Given the description of an element on the screen output the (x, y) to click on. 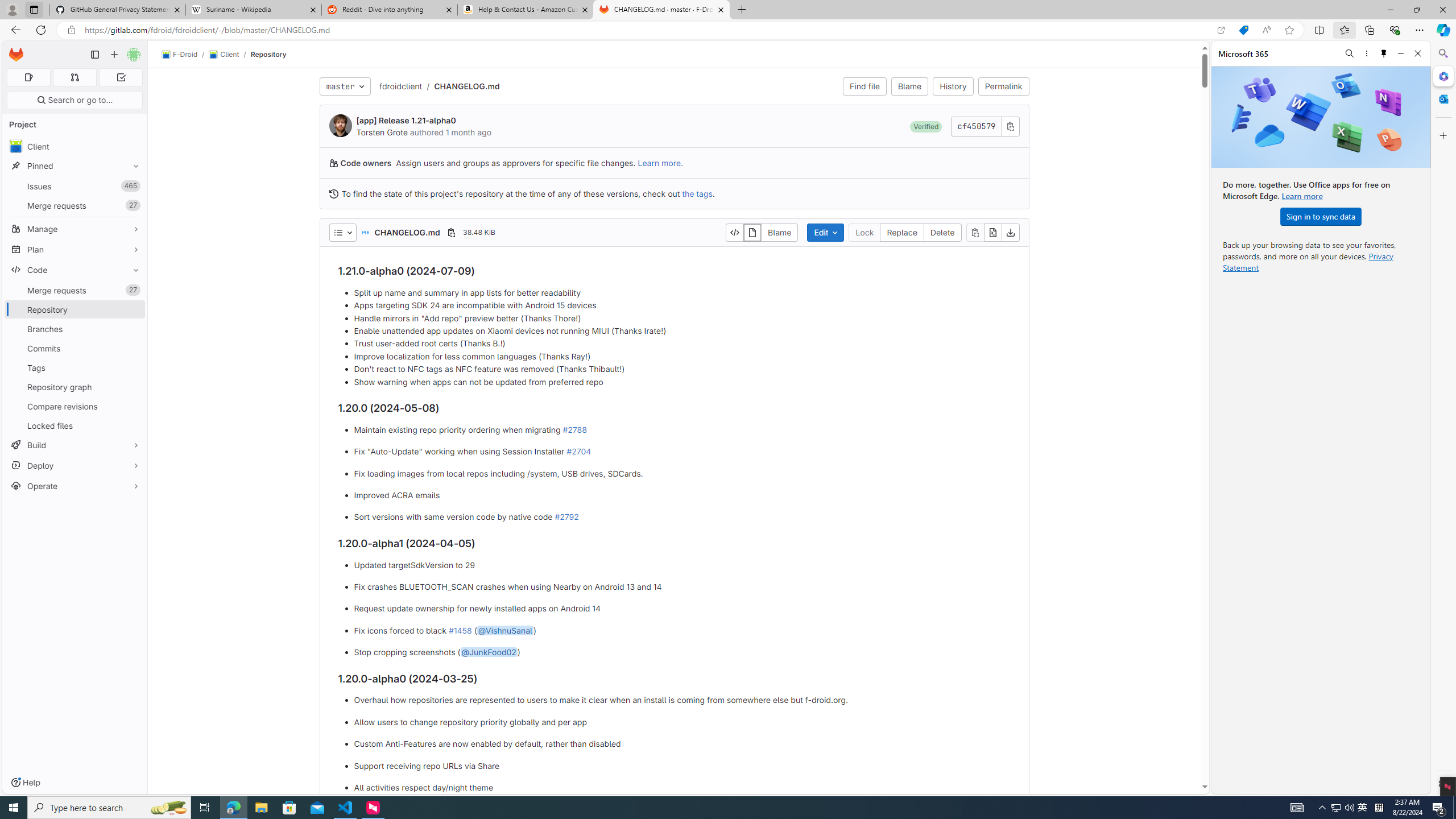
Client (223, 54)
[app] Release 1.21-alpha0 (405, 120)
Pin Tags (132, 367)
To-Do list 0 (120, 76)
